Given the description of an element on the screen output the (x, y) to click on. 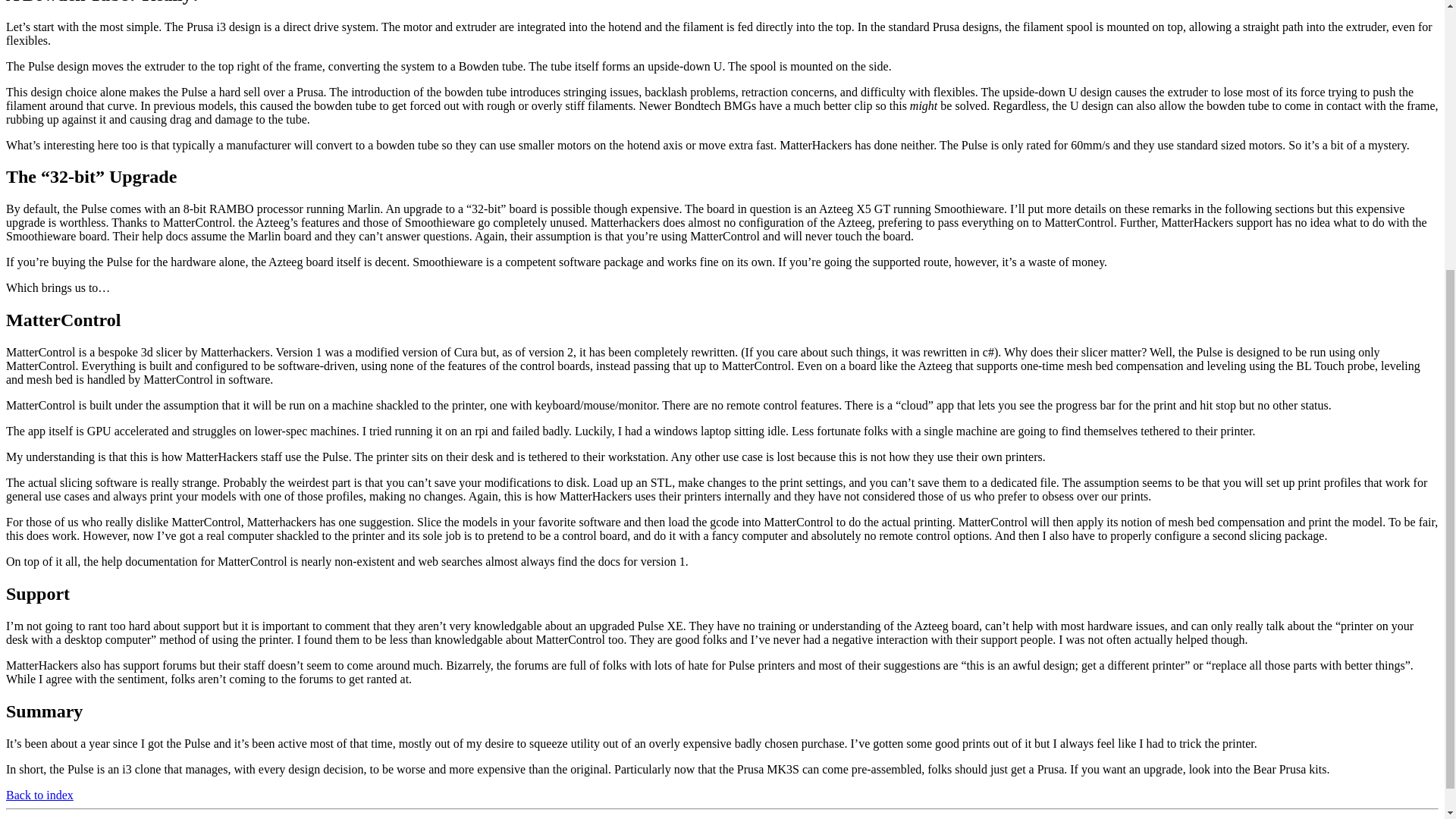
Back to index (39, 794)
